Given the description of an element on the screen output the (x, y) to click on. 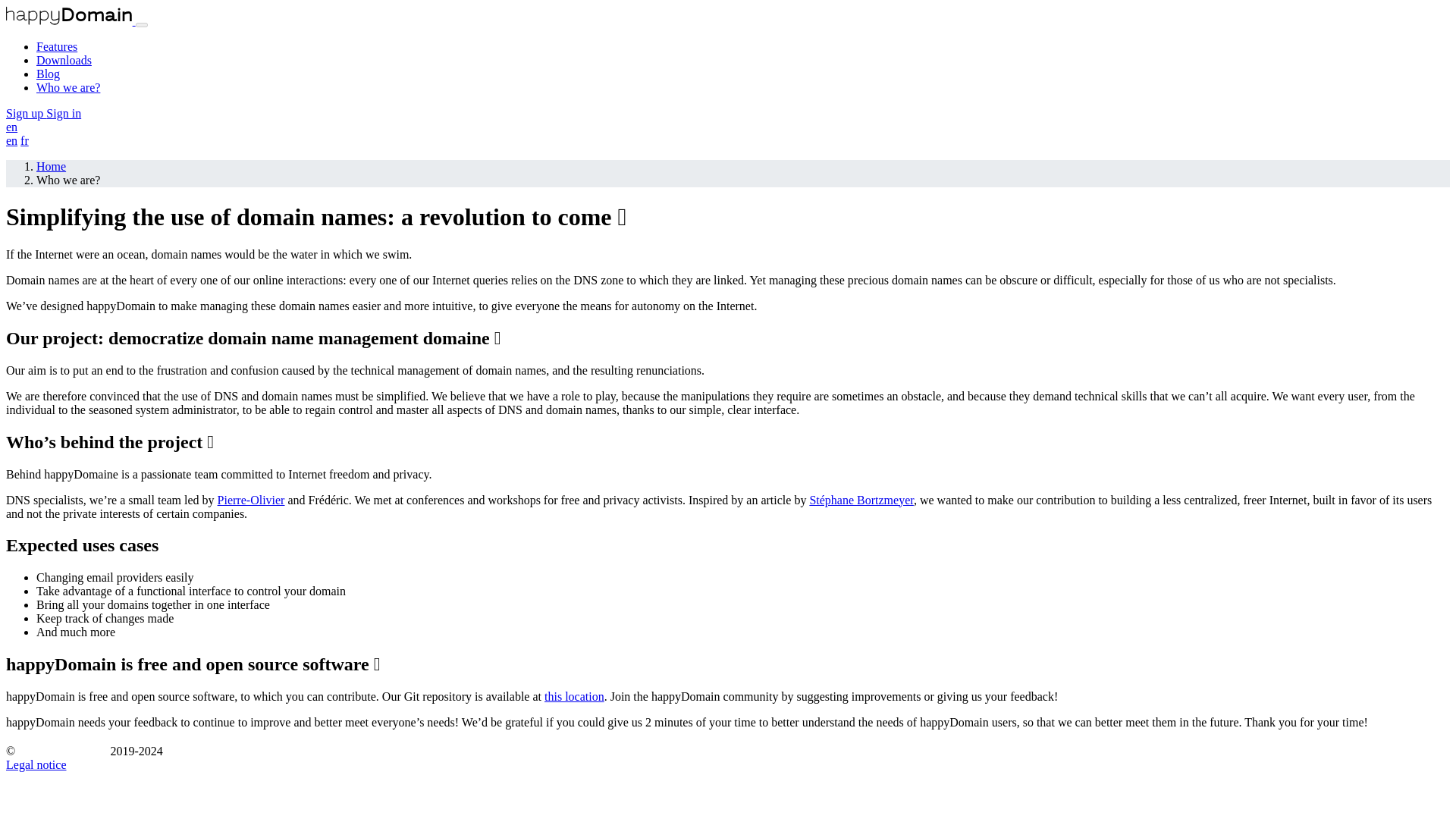
Sign up (25, 113)
happyDomain (68, 15)
happyDomain (70, 20)
Downloads (63, 60)
Features (56, 46)
Home (50, 165)
Who we are? (68, 87)
Blog (47, 73)
Sign in (63, 113)
this location (574, 696)
Sign in (63, 113)
happyDomain (62, 748)
Pierre-Olivier (250, 499)
Sign up (25, 113)
